Given the description of an element on the screen output the (x, y) to click on. 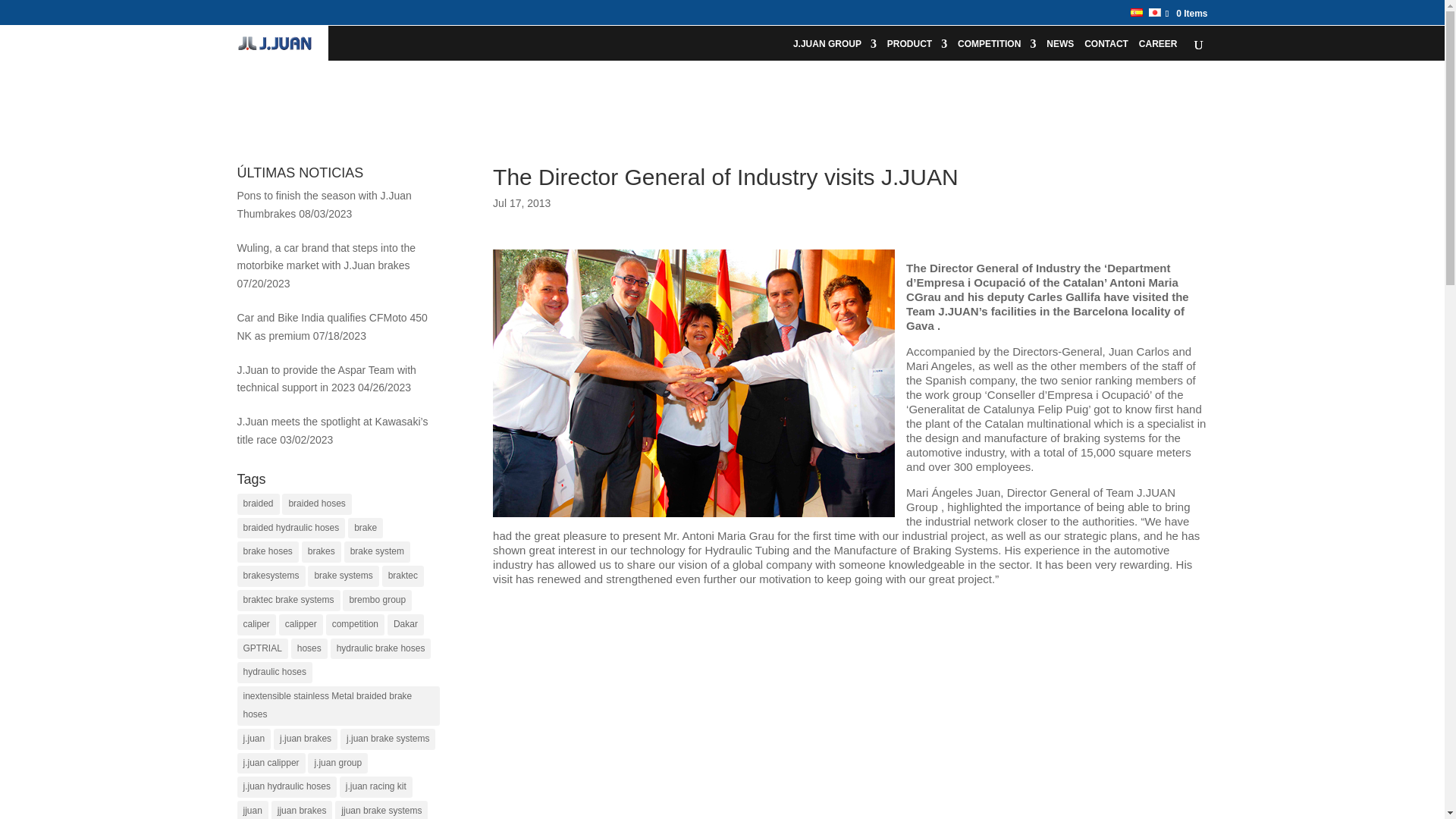
PRODUCT (916, 49)
0 Items (1182, 13)
CAREER (1157, 49)
CONTACT (1106, 49)
COMPETITION (996, 49)
NEWS (1060, 49)
J.JUAN GROUP (834, 49)
